Given the description of an element on the screen output the (x, y) to click on. 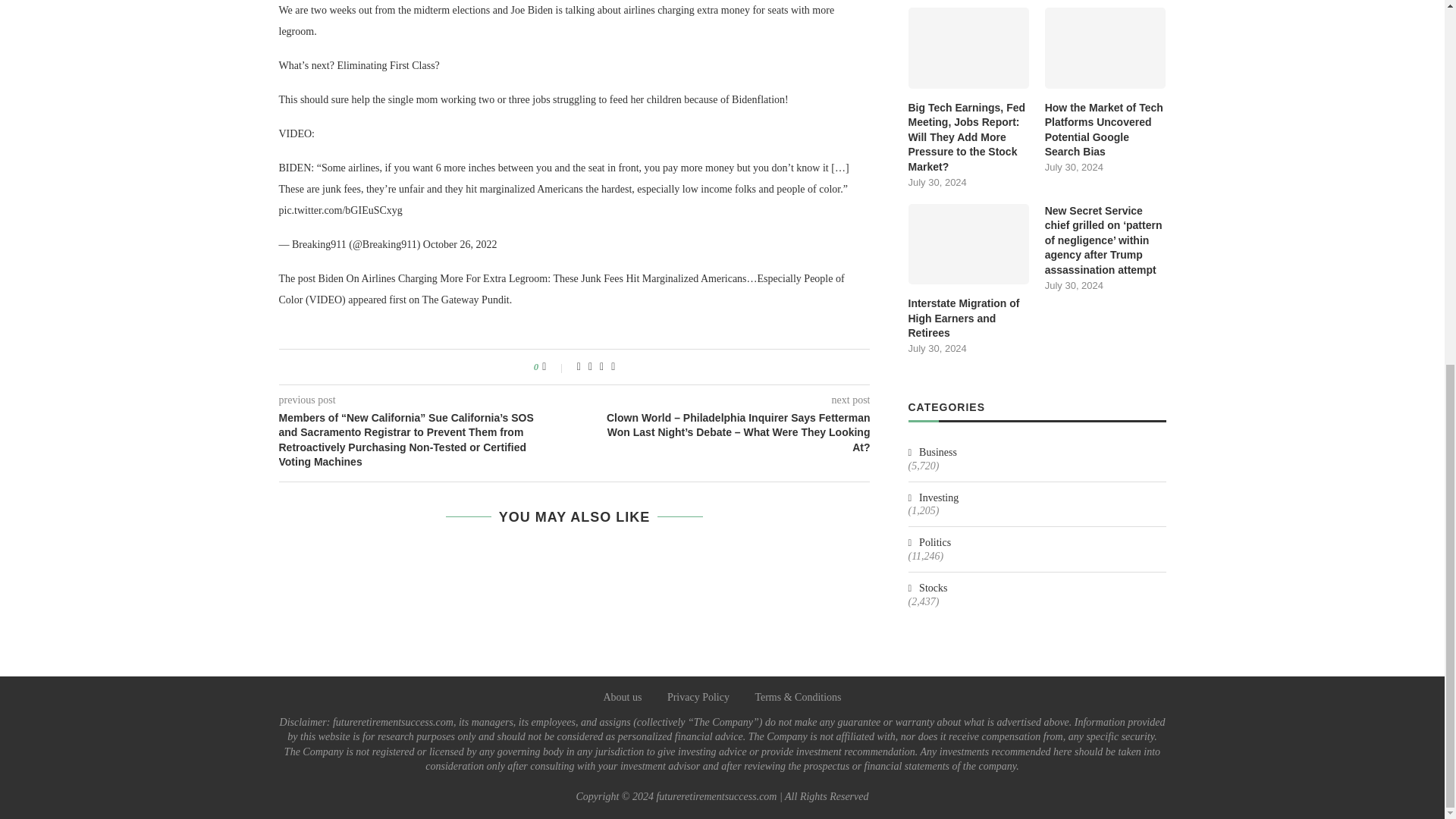
Like (553, 367)
